Given the description of an element on the screen output the (x, y) to click on. 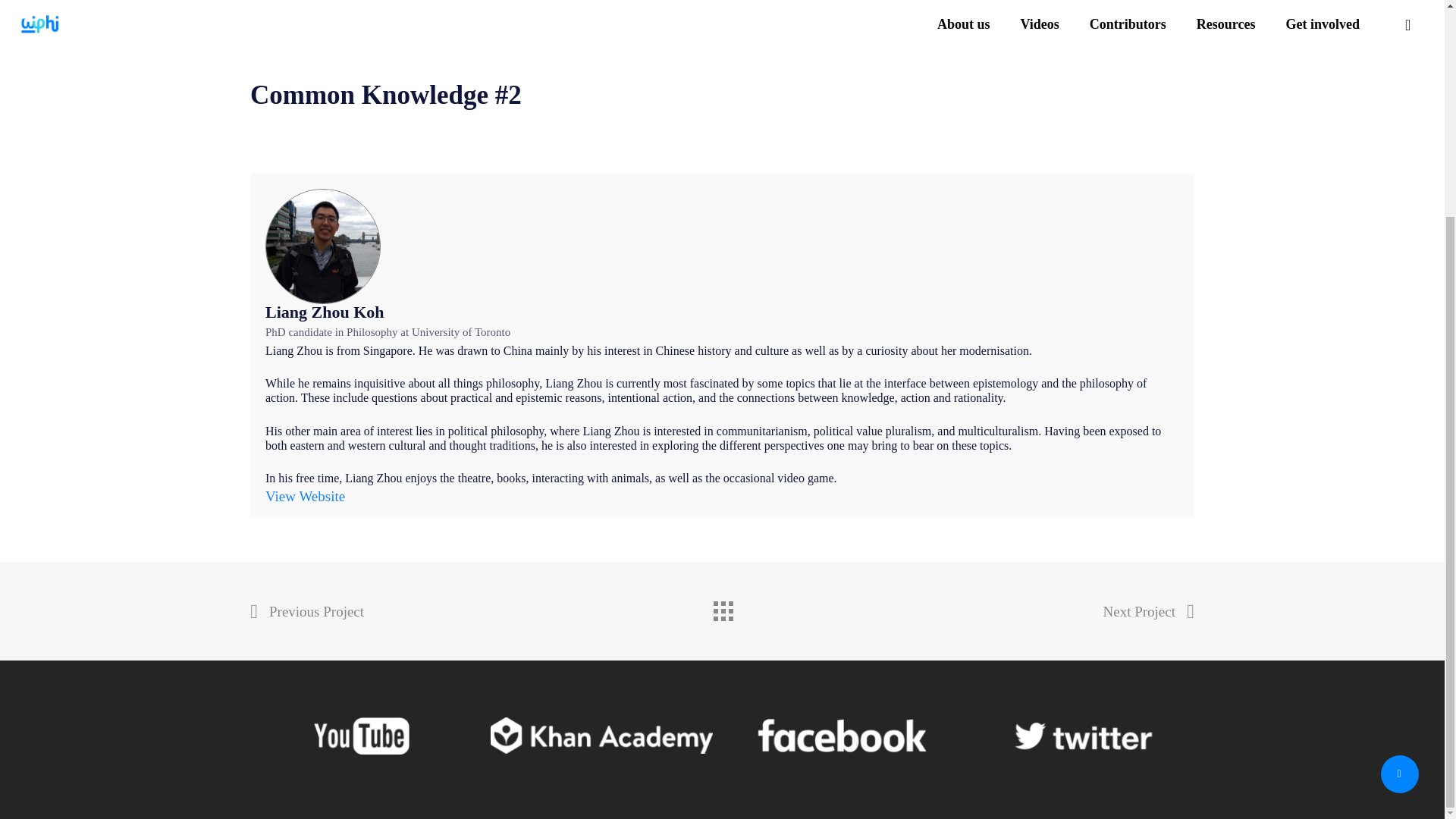
Back to all projects (721, 607)
Previous Project (307, 611)
Next Project (1147, 611)
Liang Zhou Koh (324, 311)
View Website (304, 496)
